Given the description of an element on the screen output the (x, y) to click on. 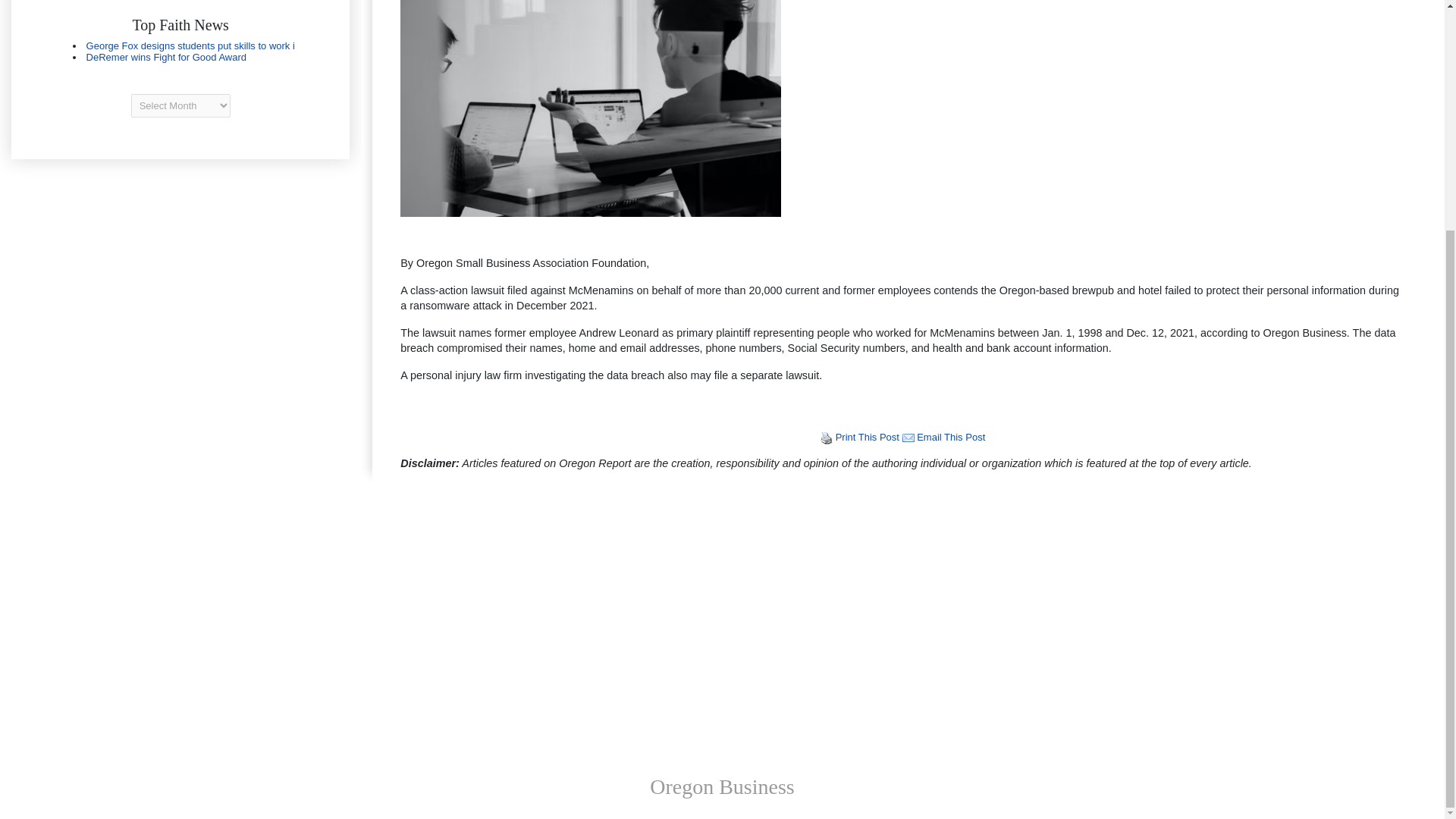
Oregon (180, 51)
George Fox designs students put skills to work i (190, 45)
Print This Post (826, 437)
Email This Post (951, 437)
Oregon Business (721, 786)
Email This Post (908, 437)
Print This Post (826, 438)
Print This Post (867, 437)
DeRemer wins Fight for Good Award (165, 57)
Email This Post (951, 437)
